Given the description of an element on the screen output the (x, y) to click on. 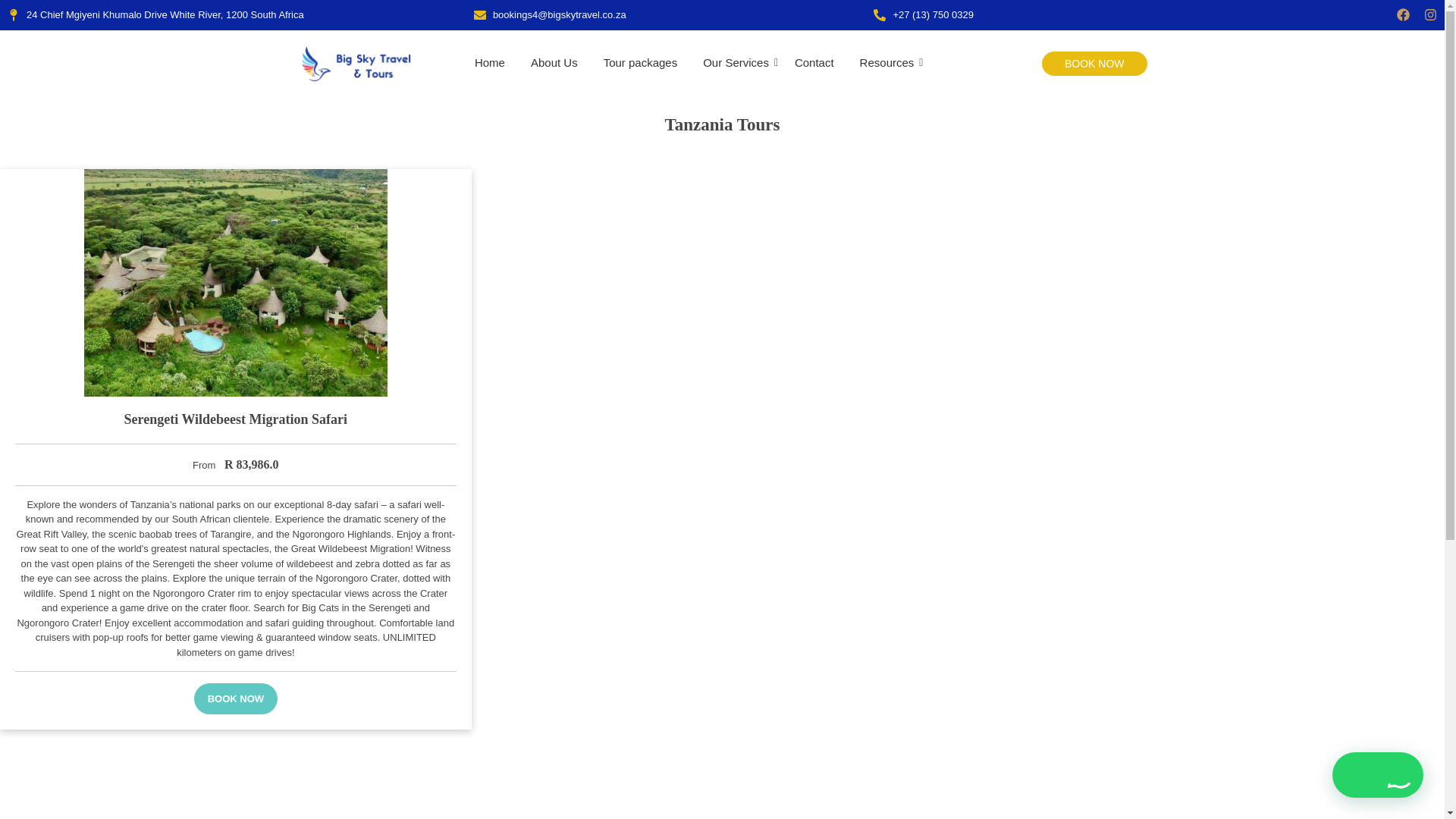
Tour packages (640, 63)
Our Services (735, 63)
Contact (814, 63)
Book now (235, 698)
Serengeti Wildebeest Migration Safari (235, 418)
Serengeti Wildebeest Migration Safari (235, 418)
BOOK NOW (1094, 63)
Home (489, 63)
About Us (554, 63)
BOOK NOW (235, 698)
Serengeti Wildebeest Migration Safari (235, 282)
Lake Manyara Serena - 1 (235, 282)
Resources (887, 63)
